Given the description of an element on the screen output the (x, y) to click on. 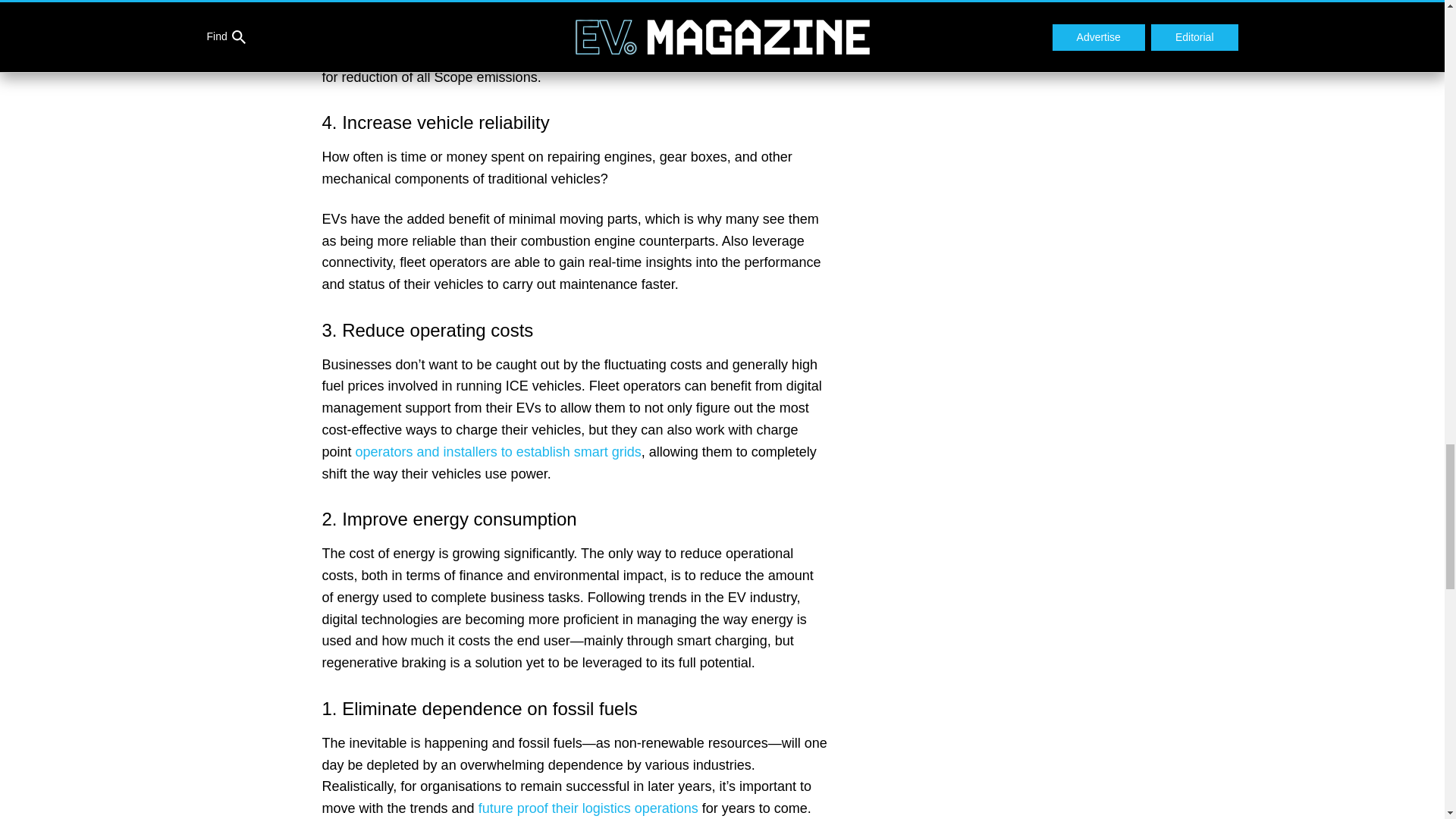
operators and installers to establish smart grids (498, 451)
future proof their logistics operations (588, 807)
